Given the description of an element on the screen output the (x, y) to click on. 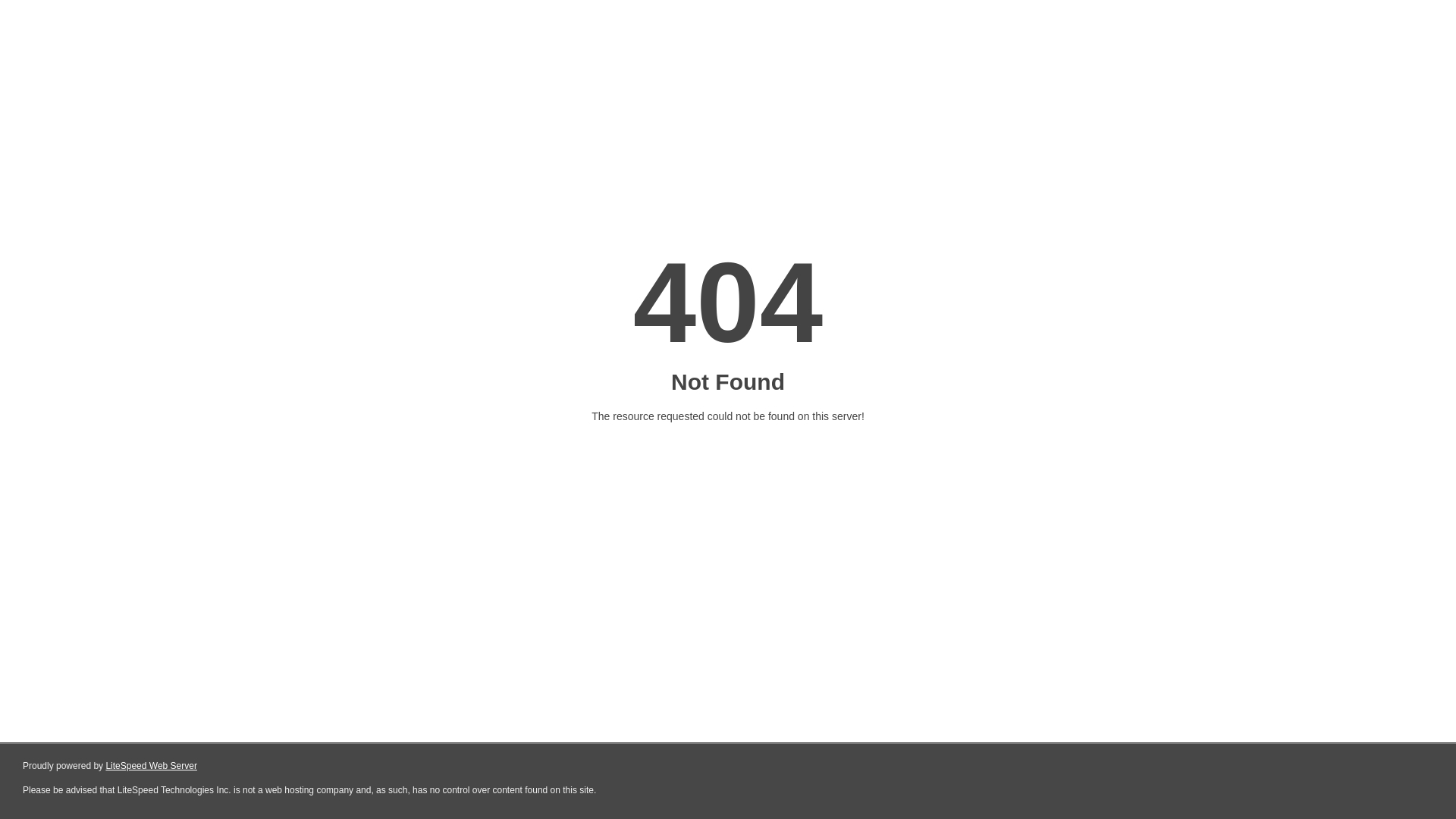
LiteSpeed Web Server Element type: text (151, 765)
